Given the description of an element on the screen output the (x, y) to click on. 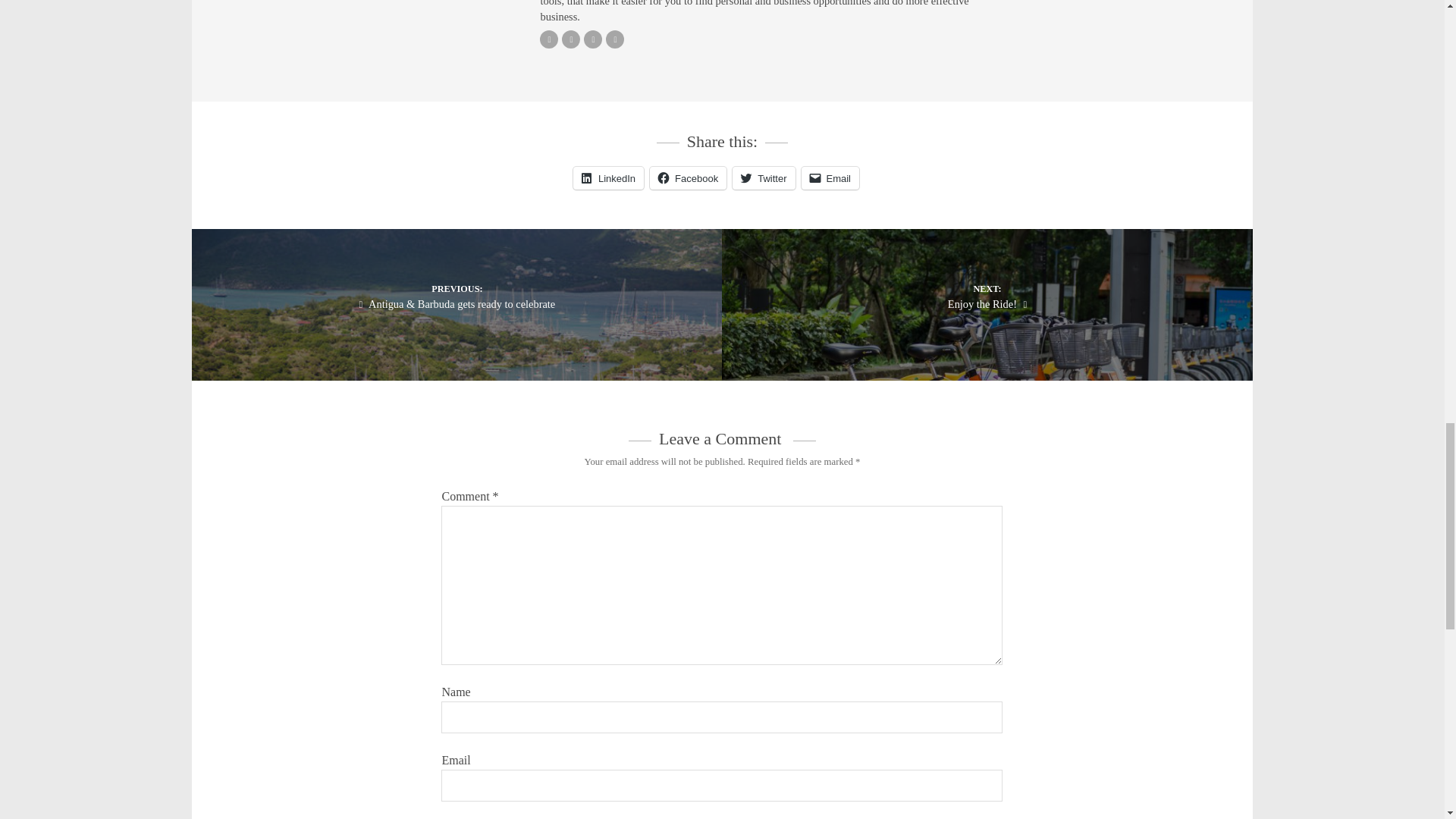
Join WTM Team on Facebook (592, 39)
Follow WTM Team on Twitter (570, 39)
